Given the description of an element on the screen output the (x, y) to click on. 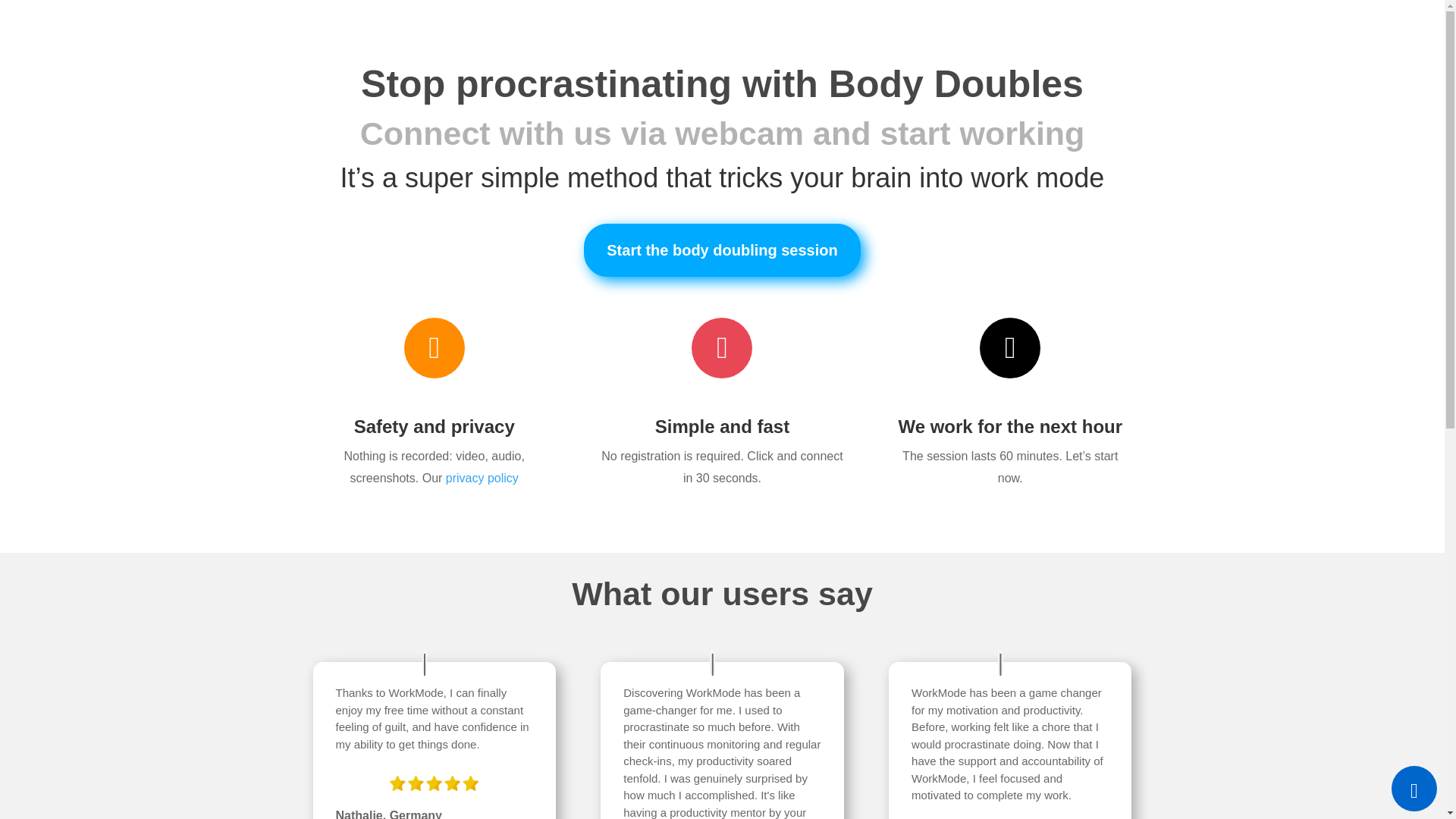
Start the body doubling session (721, 249)
privacy policy (481, 477)
privacy policy (481, 477)
